Given the description of an element on the screen output the (x, y) to click on. 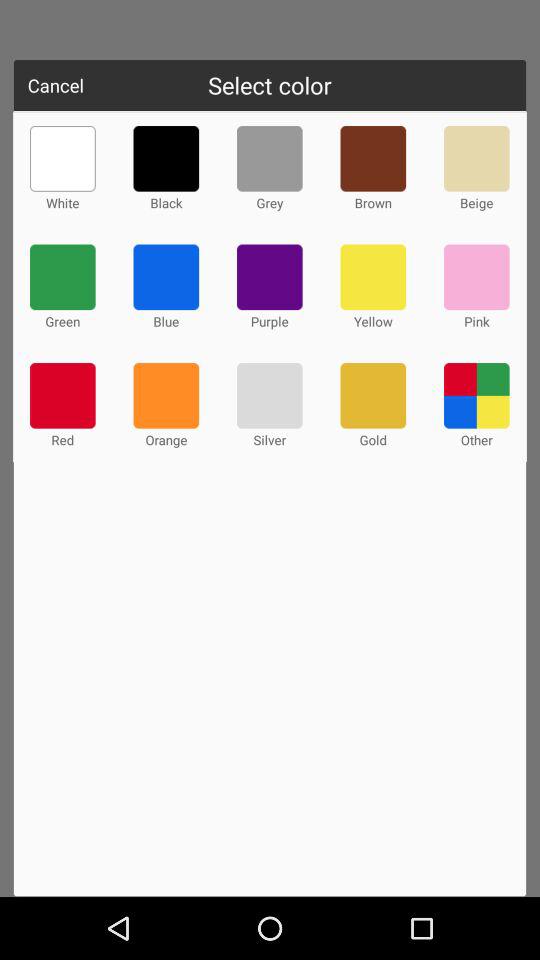
turn off the cancel icon (55, 85)
